Given the description of an element on the screen output the (x, y) to click on. 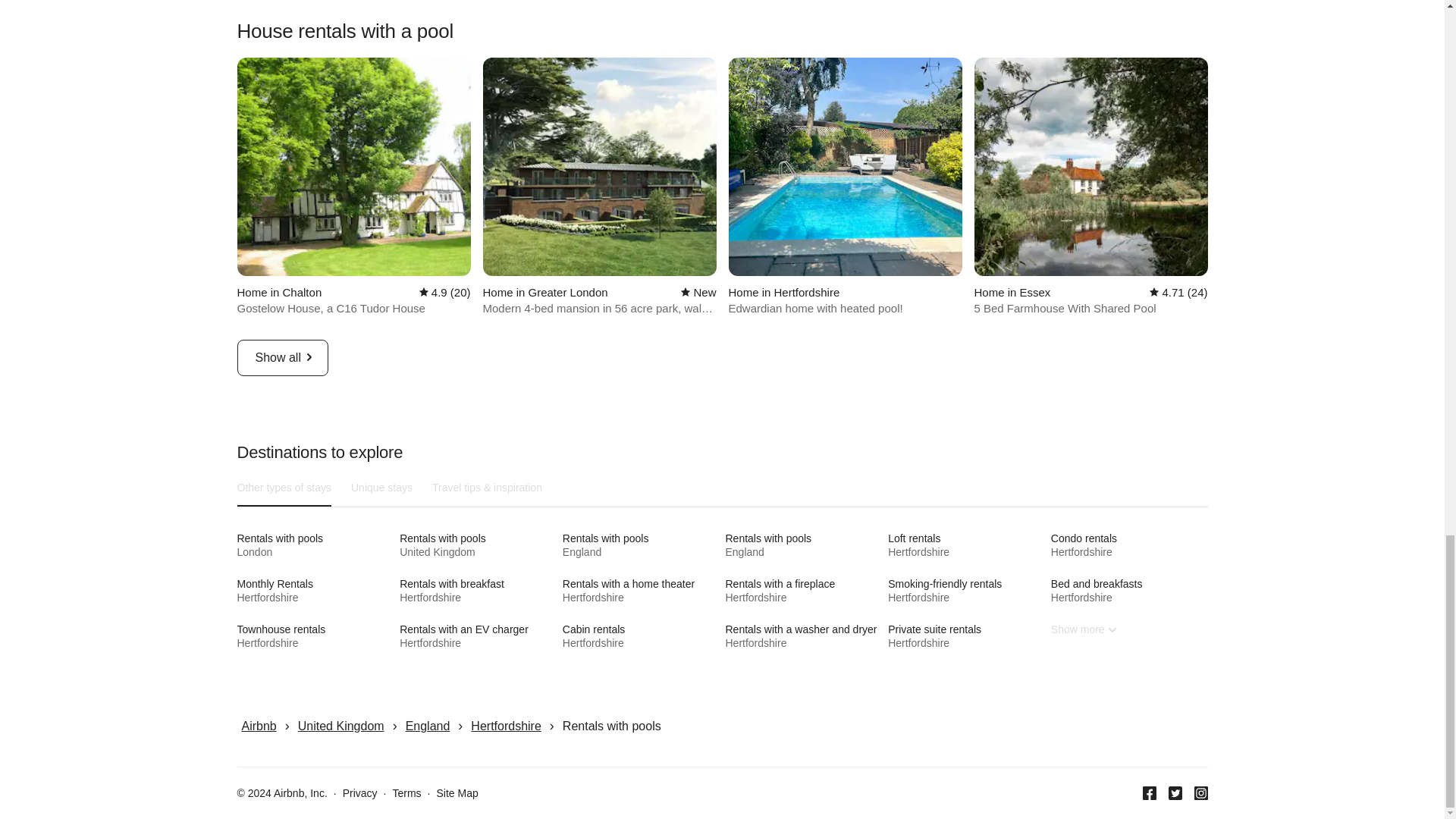
Unique stays (640, 544)
Other types of stays (314, 544)
Show all (381, 487)
